Given the description of an element on the screen output the (x, y) to click on. 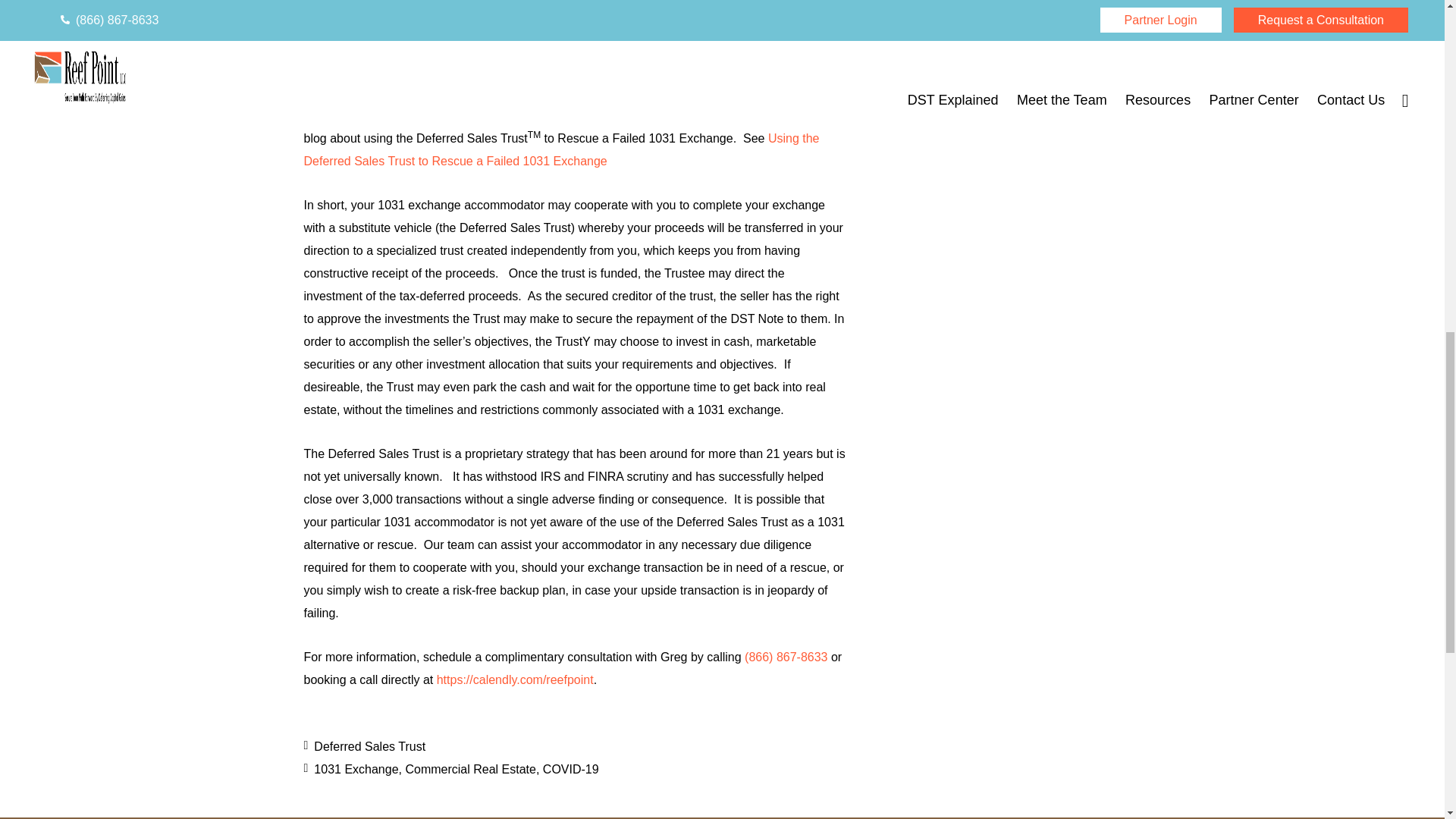
Deferred Sales Trust (369, 746)
1031 Exchange (355, 768)
